Given the description of an element on the screen output the (x, y) to click on. 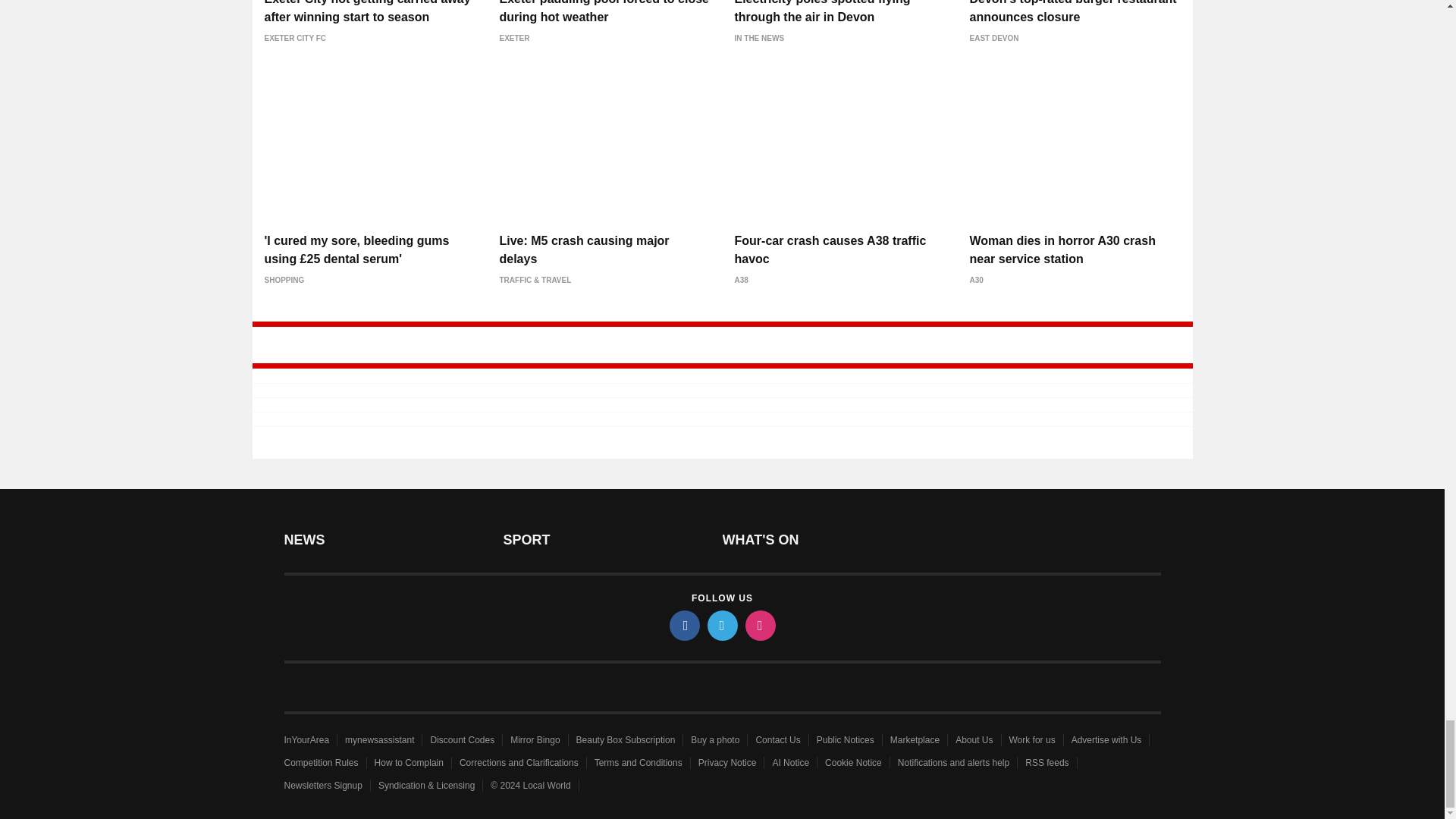
facebook (683, 625)
twitter (721, 625)
instagram (759, 625)
